Given the description of an element on the screen output the (x, y) to click on. 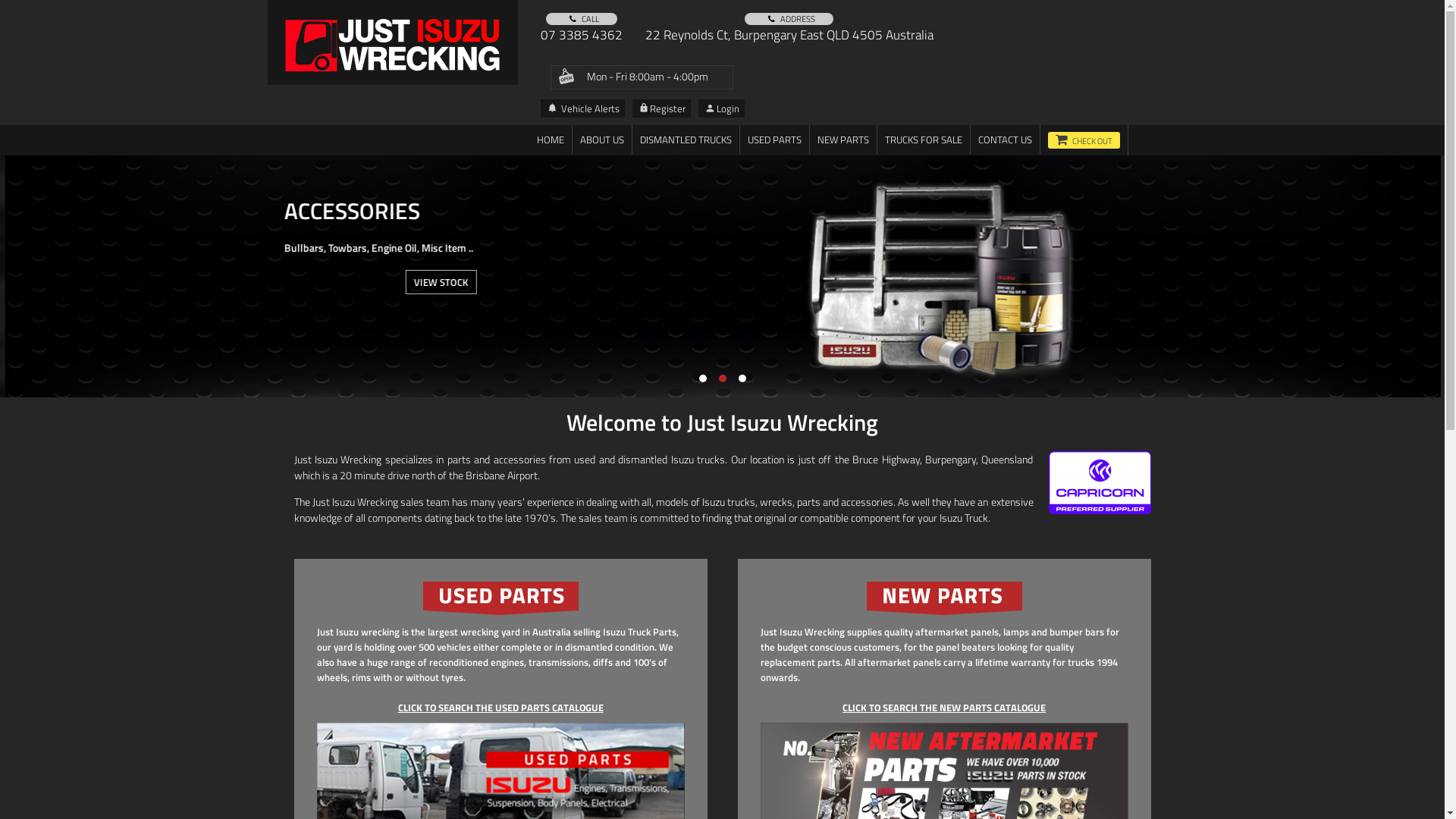
HOME Element type: text (550, 139)
3 Element type: text (742, 378)
Register Element type: text (661, 108)
1 Element type: text (702, 378)
VIEW STOCK Element type: text (431, 281)
CHECK OUT Element type: text (1083, 140)
Login Element type: text (720, 108)
DISMANTLED TRUCKS Element type: text (685, 139)
TRUCKS FOR SALE Element type: text (922, 139)
ABOUT US Element type: text (600, 139)
2 Element type: text (722, 378)
Vehicle Alerts Element type: text (581, 108)
CONTACT US Element type: text (1004, 139)
NEW PARTS Element type: text (842, 139)
USED PARTS Element type: text (774, 139)
